Given the description of an element on the screen output the (x, y) to click on. 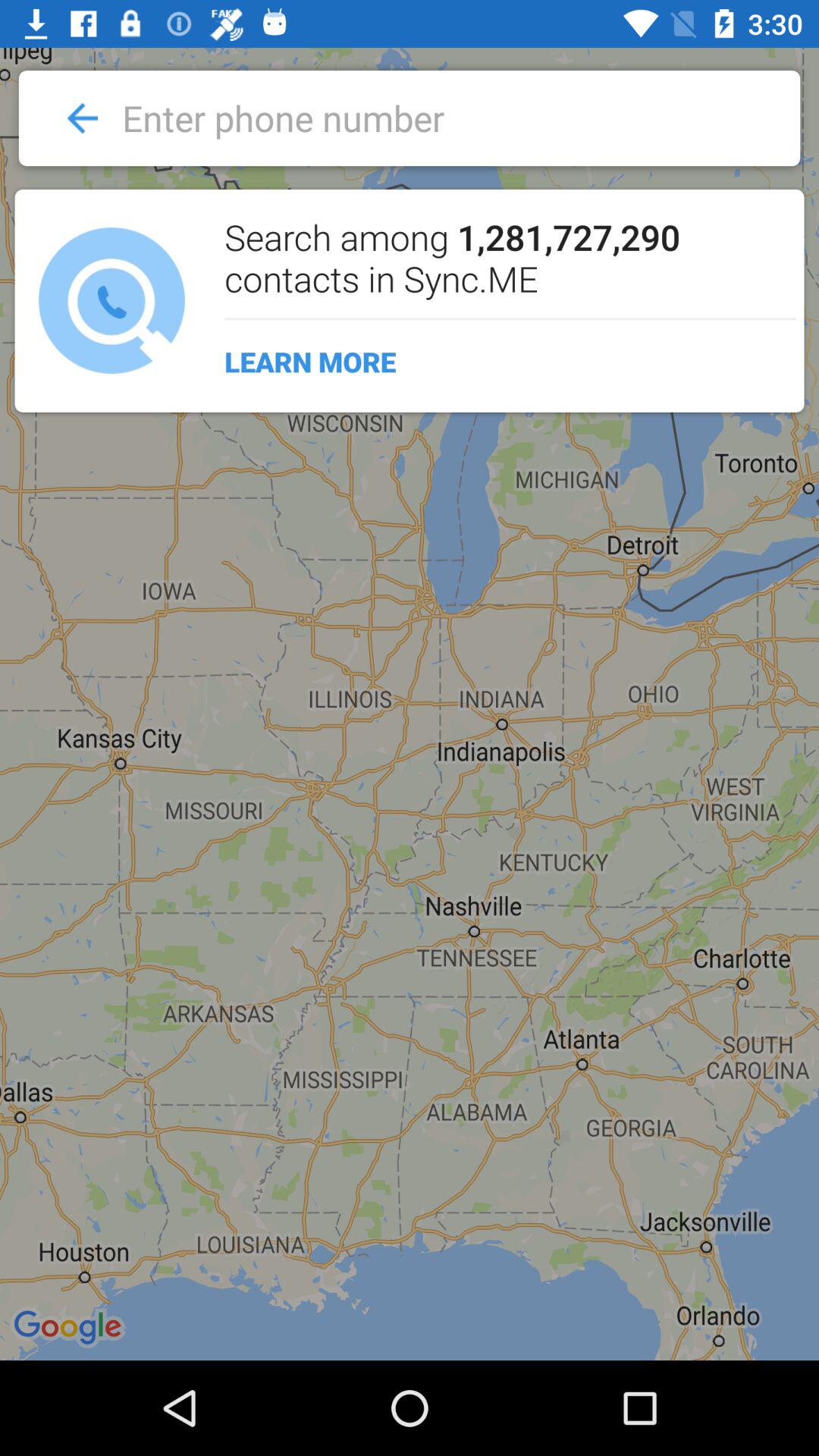
flip to learn more icon (502, 361)
